Given the description of an element on the screen output the (x, y) to click on. 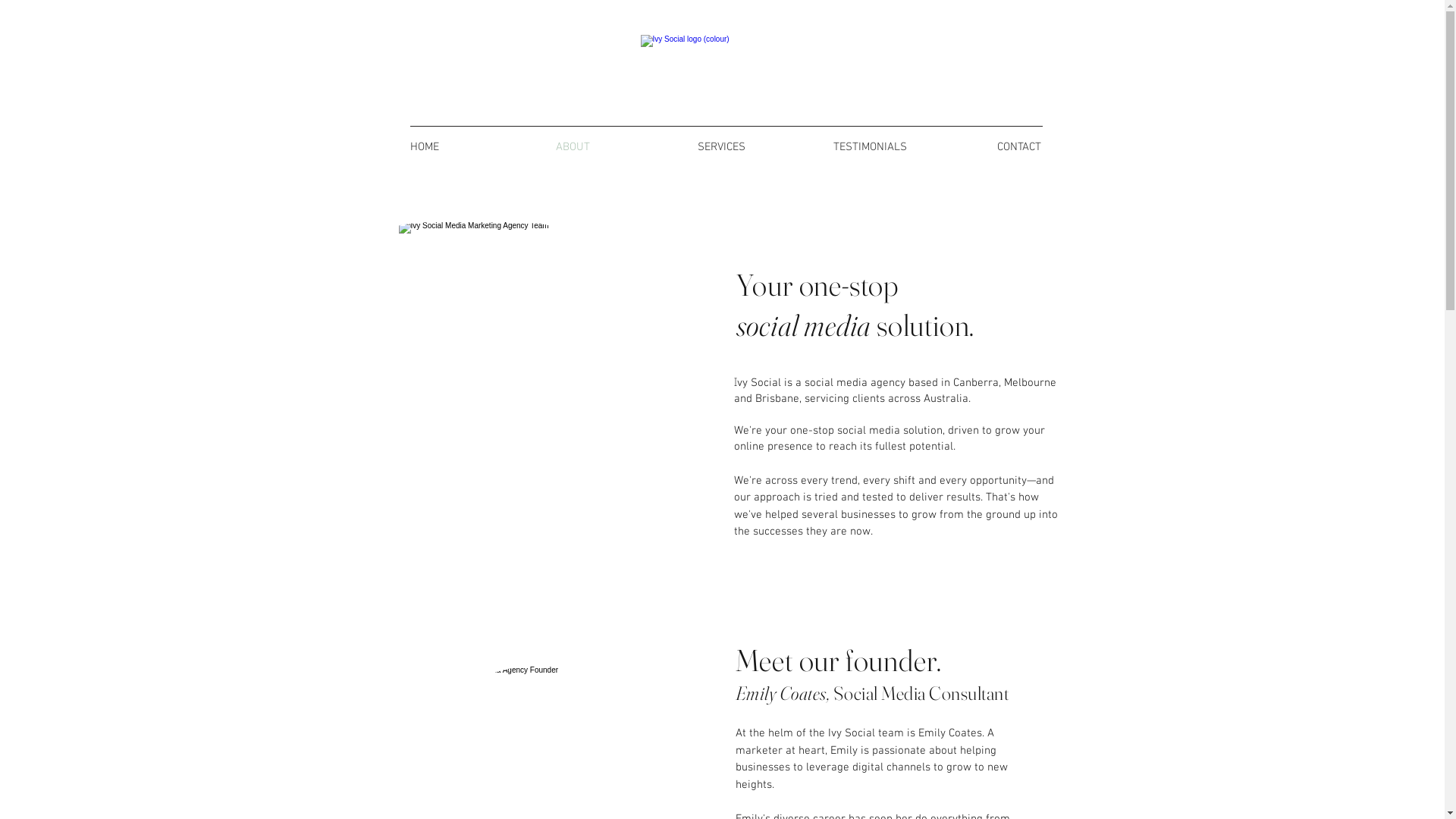
Embedded Content Element type: hover (437, 93)
SERVICES Element type: text (721, 147)
CONTACT Element type: text (1018, 147)
ABOUT Element type: text (572, 147)
HOME Element type: text (424, 147)
TESTIMONIALS Element type: text (870, 147)
